Given the description of an element on the screen output the (x, y) to click on. 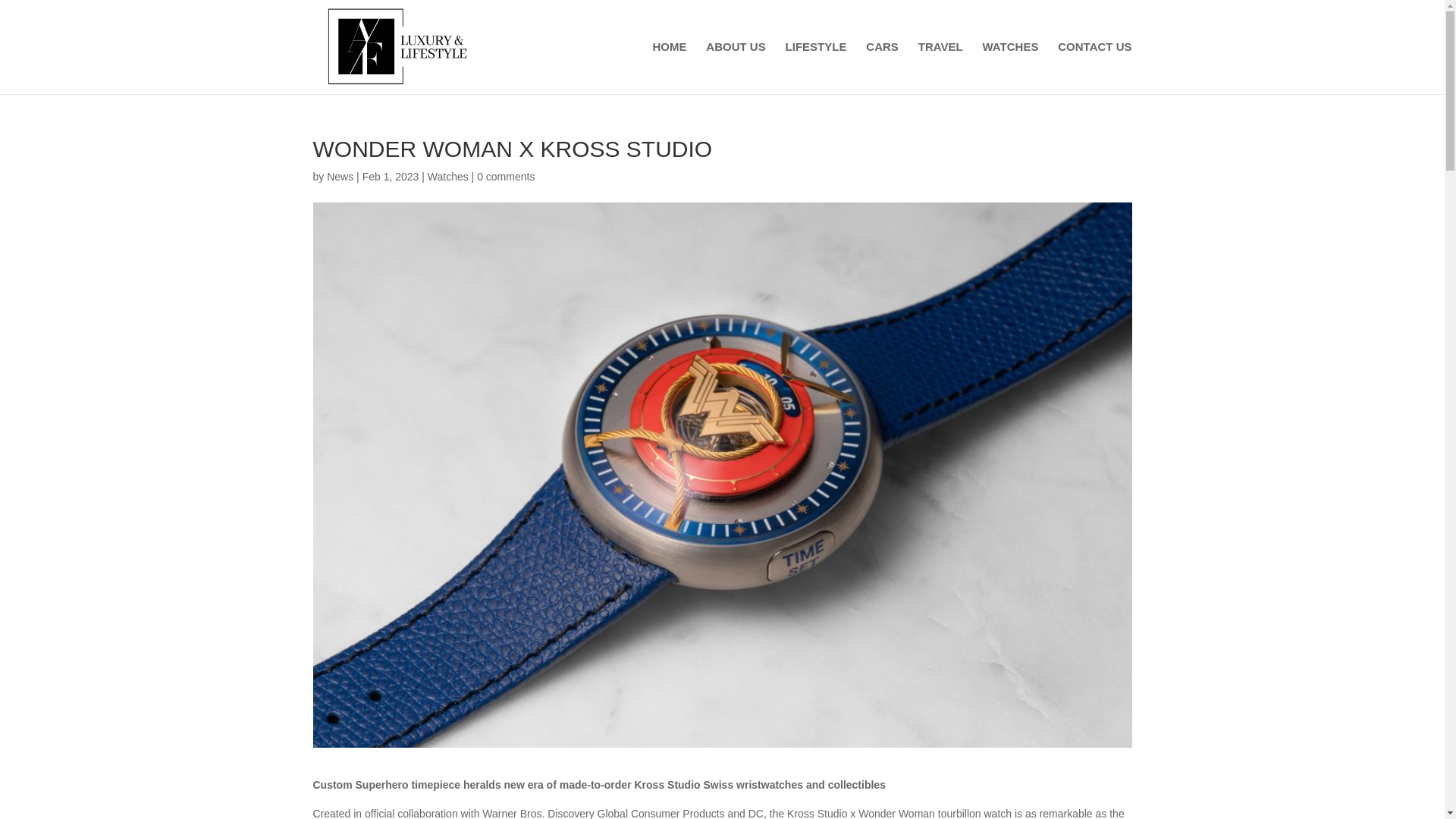
News (339, 176)
ABOUT US (735, 67)
CONTACT US (1094, 67)
LIFESTYLE (816, 67)
Watches (448, 176)
WATCHES (1010, 67)
0 comments (505, 176)
Posts by News (339, 176)
